Given the description of an element on the screen output the (x, y) to click on. 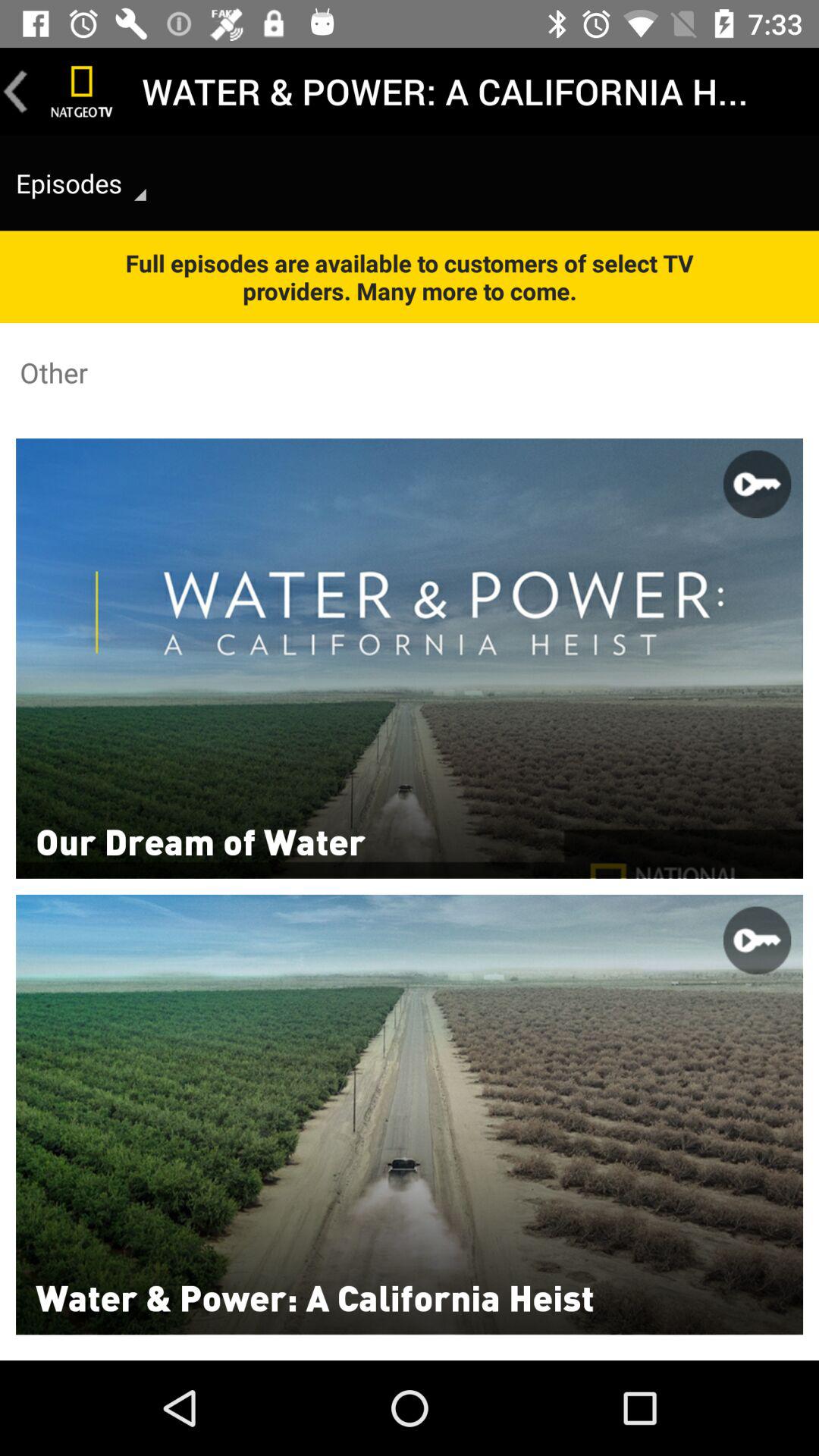
swipe to full episodes are icon (409, 276)
